Given the description of an element on the screen output the (x, y) to click on. 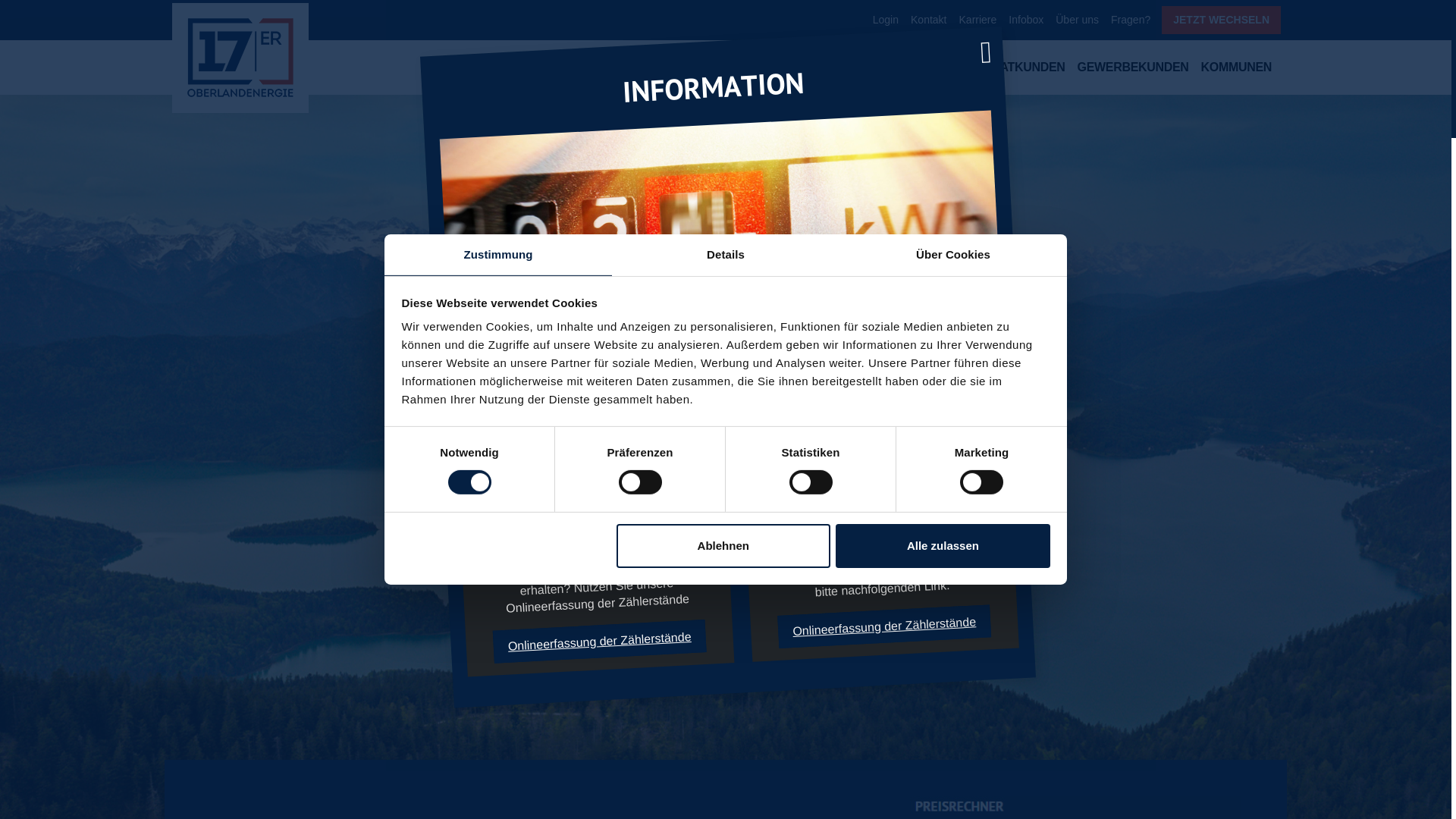
Login Element type: text (885, 19)
Infobox Element type: text (1025, 19)
Karriere Element type: text (978, 19)
PRIVATKUNDEN Element type: text (1019, 69)
Kontakt Element type: text (928, 19)
KOMMUNEN Element type: text (1236, 69)
Fragen? Element type: text (1130, 19)
17er Oberlandenergie Startseite Element type: hover (240, 57)
GEWERBEKUNDEN Element type: text (1133, 69)
Zustimmung Element type: text (497, 255)
Details Element type: text (725, 255)
Ablehnen Element type: text (723, 545)
JETZT WECHSELN Element type: text (1220, 20)
Alle zulassen Element type: text (942, 545)
